Given the description of an element on the screen output the (x, y) to click on. 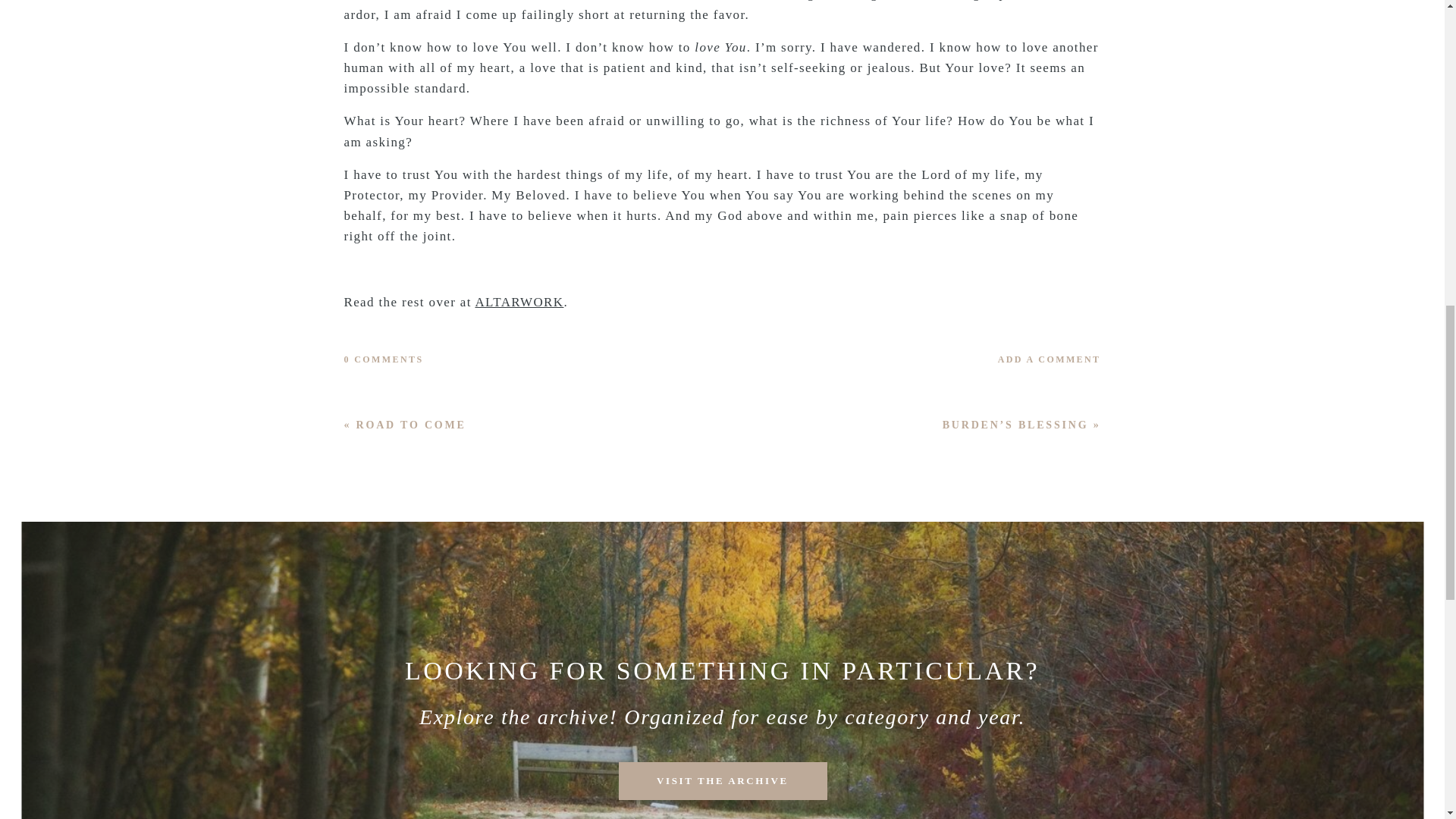
ADD A COMMENT (953, 359)
ALTARWORK (518, 301)
0 COMMENTS (383, 358)
ROAD TO COME (410, 424)
VISIT THE ARCHIVE (722, 781)
